Given the description of an element on the screen output the (x, y) to click on. 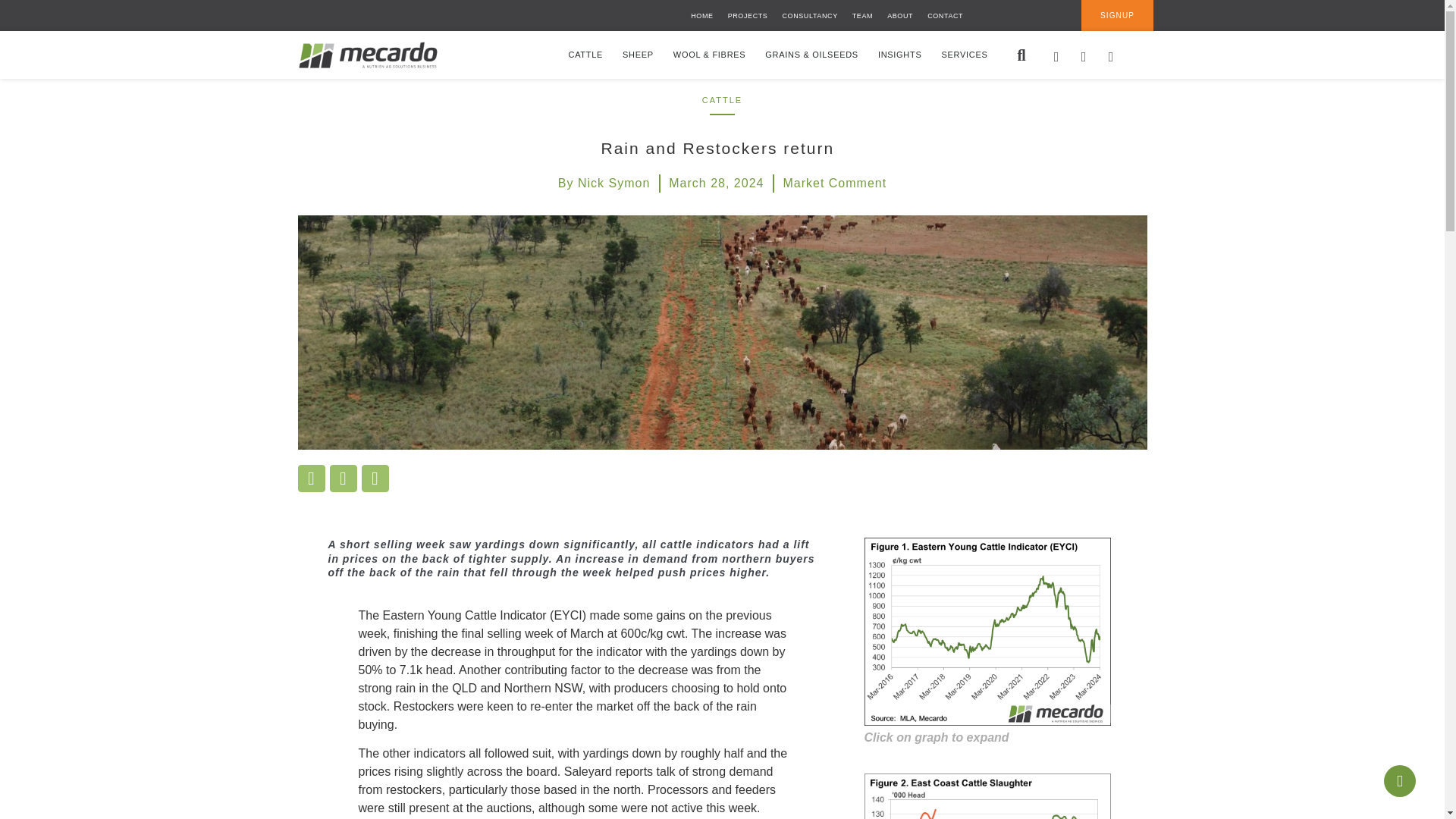
SHEEP (638, 55)
CATTLE (586, 55)
SIGNUP (1117, 15)
ABOUT (899, 14)
CONSULTANCY (809, 14)
HOME (701, 14)
INSIGHTS (899, 55)
CONTACT (944, 14)
PROJECTS (748, 14)
SERVICES (963, 55)
